Given the description of an element on the screen output the (x, y) to click on. 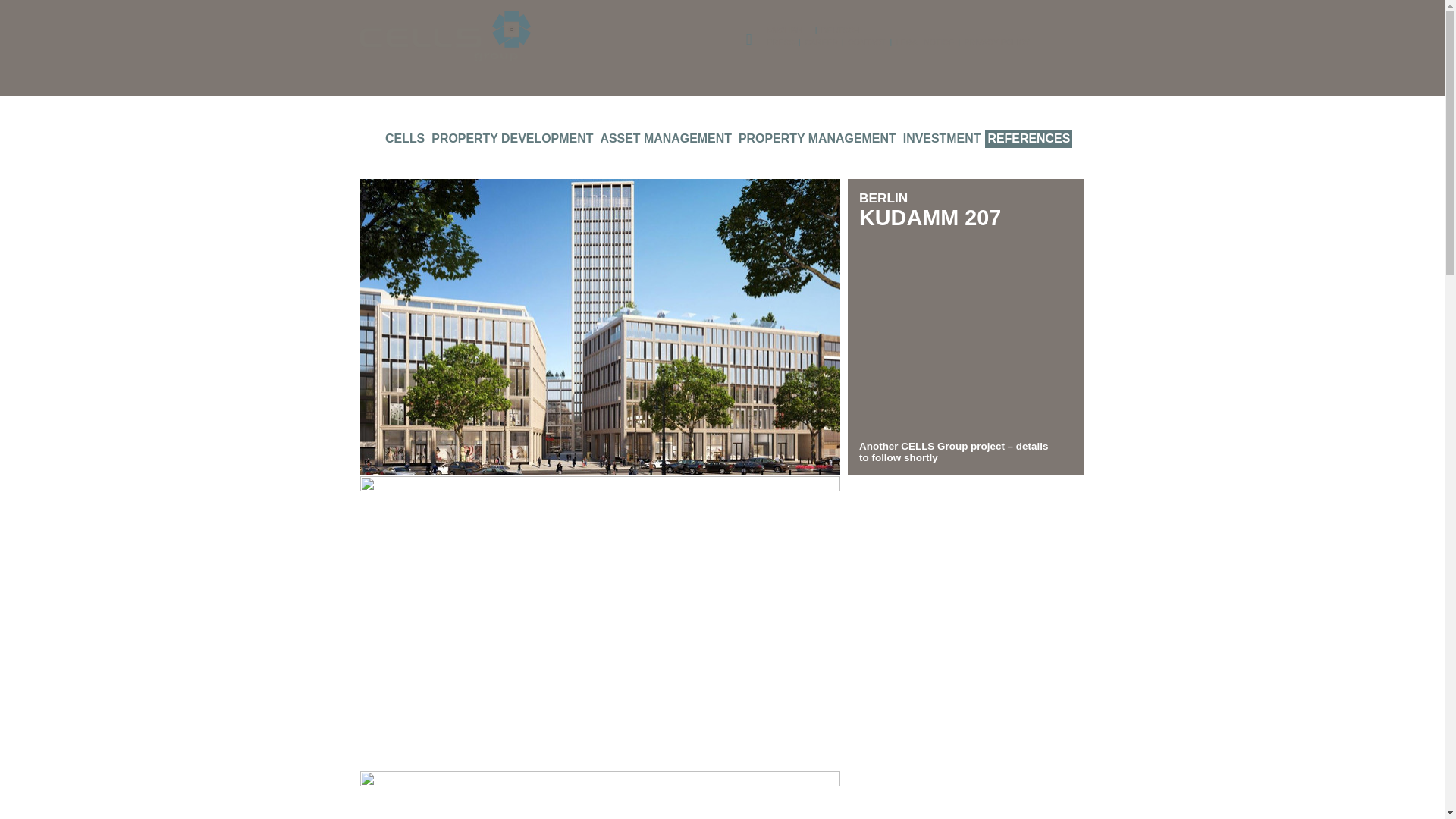
PRIVACY POLICY (996, 41)
LinkedIn (748, 35)
HOME (369, 138)
PROPERTY MANAGEMENT (817, 138)
ASSET MANAGEMENT (664, 138)
CAREER (821, 41)
INVESTMENT (942, 138)
DEUTSCH (839, 30)
LEGAL NOTICE (924, 41)
PROPERTY DEVELOPMENT (512, 138)
